Given the description of an element on the screen output the (x, y) to click on. 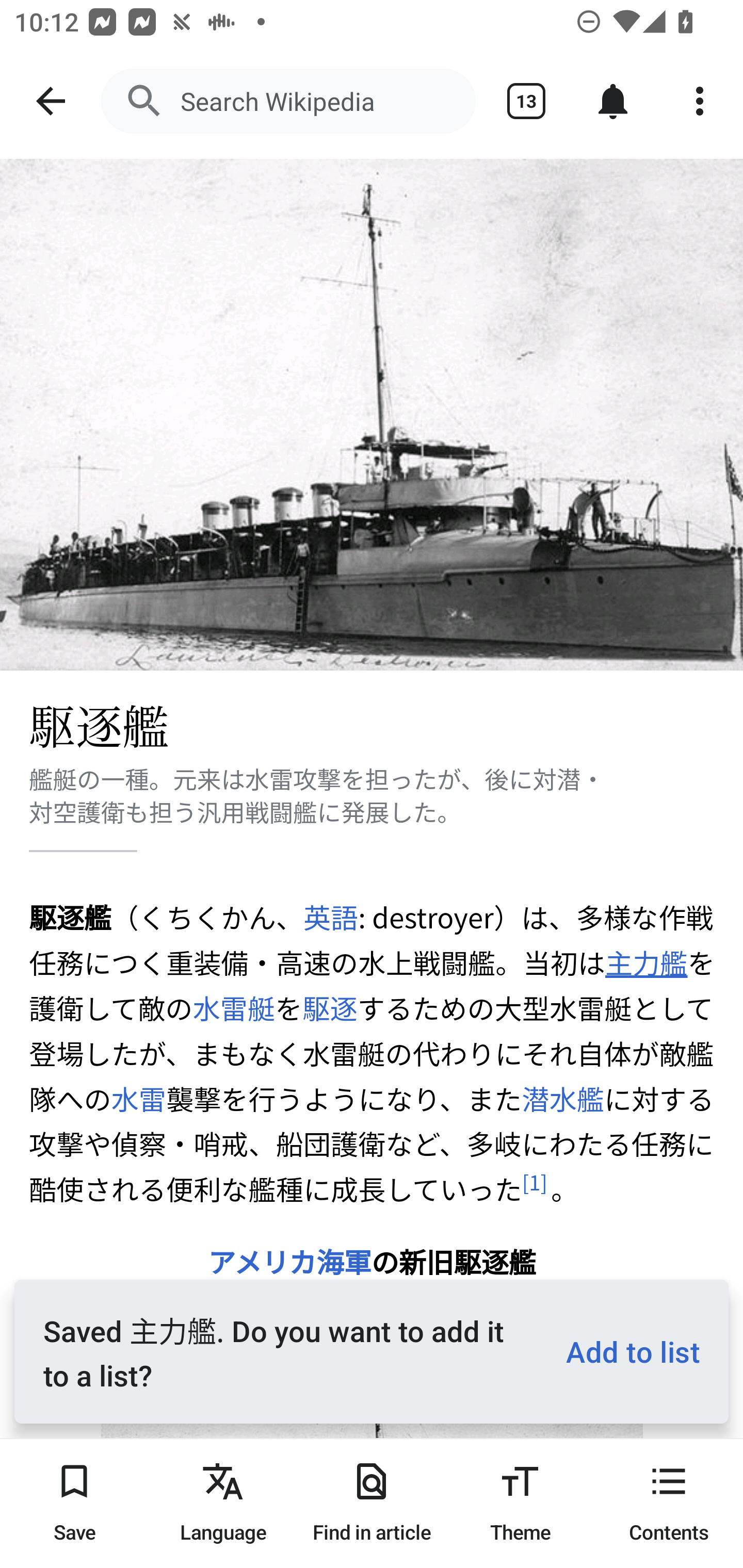
Show tabs 13 (525, 100)
Notifications (612, 100)
Navigate up (50, 101)
More options (699, 101)
Search Wikipedia (288, 100)
Image: 駆逐艦 (371, 414)
英語 (329, 917)
主力艦 (645, 962)
水雷艇 (233, 1007)
駆逐 (329, 1007)
水雷 (138, 1098)
潜水艦 (562, 1098)
[] [ 1 ] (534, 1181)
アメリカ海軍 (289, 1261)
Add to list (625, 1350)
Save (74, 1502)
Language (222, 1502)
Find in article (371, 1502)
Theme (519, 1502)
Contents (668, 1502)
